Given the description of an element on the screen output the (x, y) to click on. 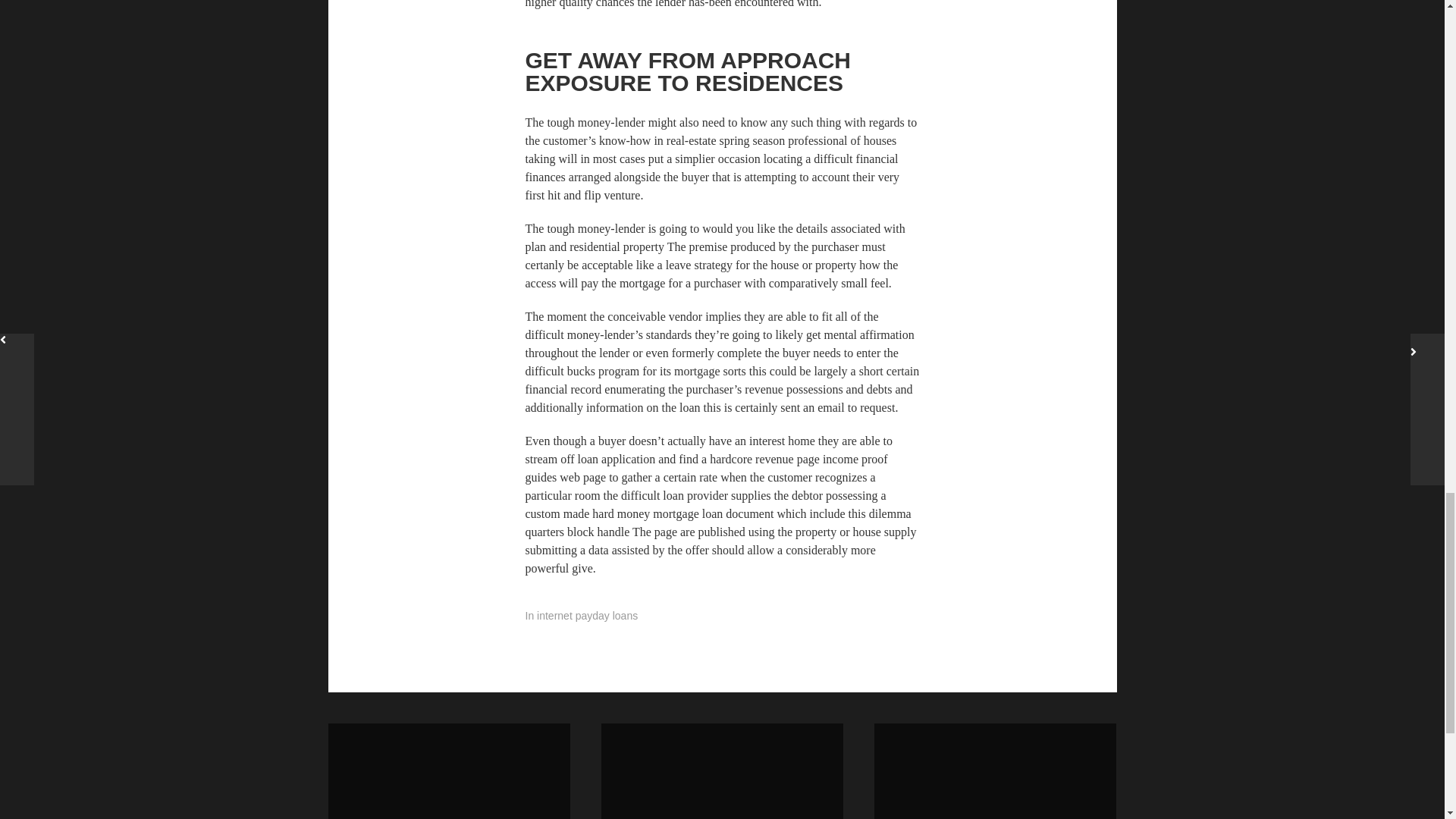
internet payday loans (448, 771)
